Given the description of an element on the screen output the (x, y) to click on. 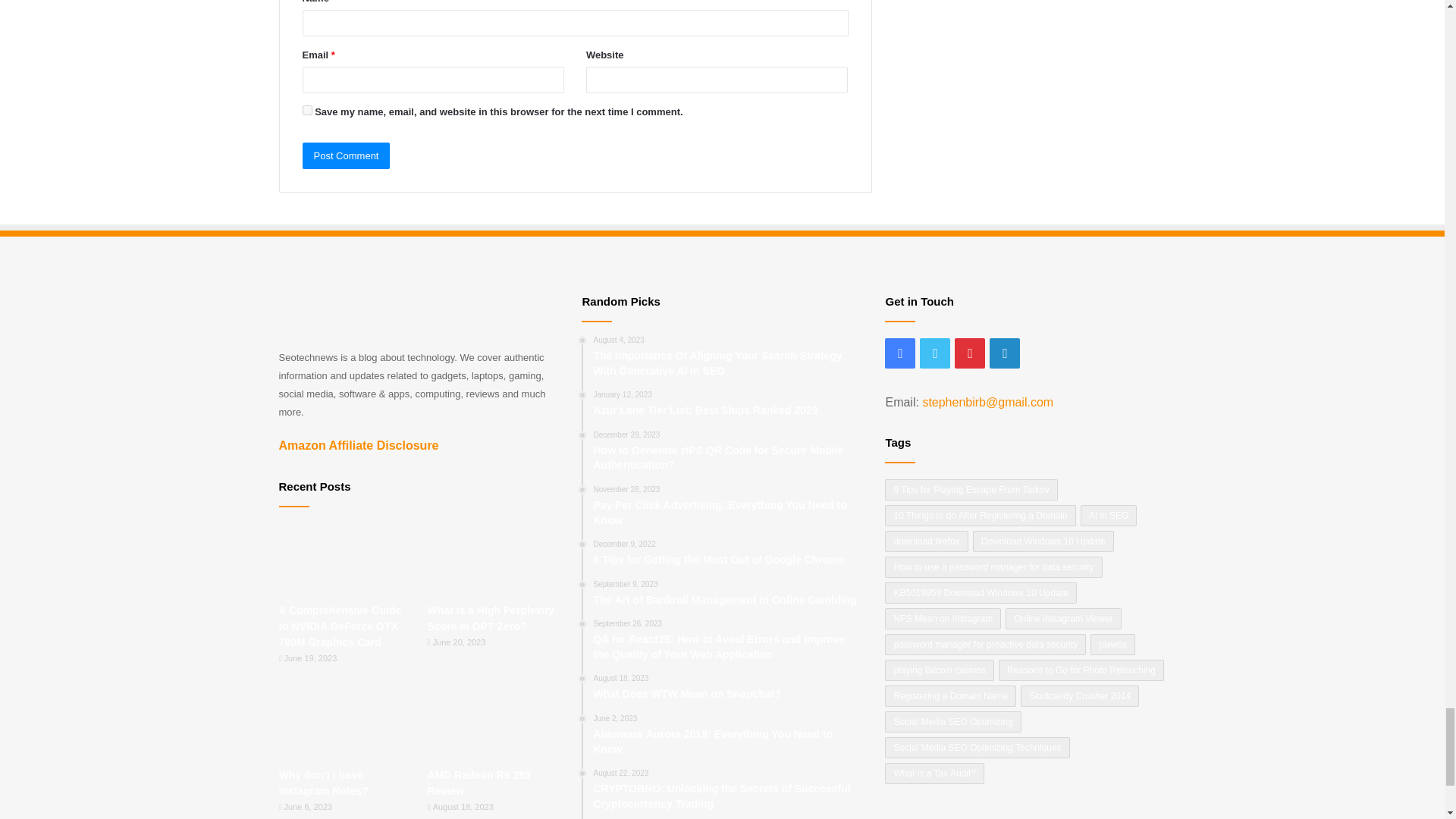
yes (306, 110)
Post Comment (345, 155)
